Given the description of an element on the screen output the (x, y) to click on. 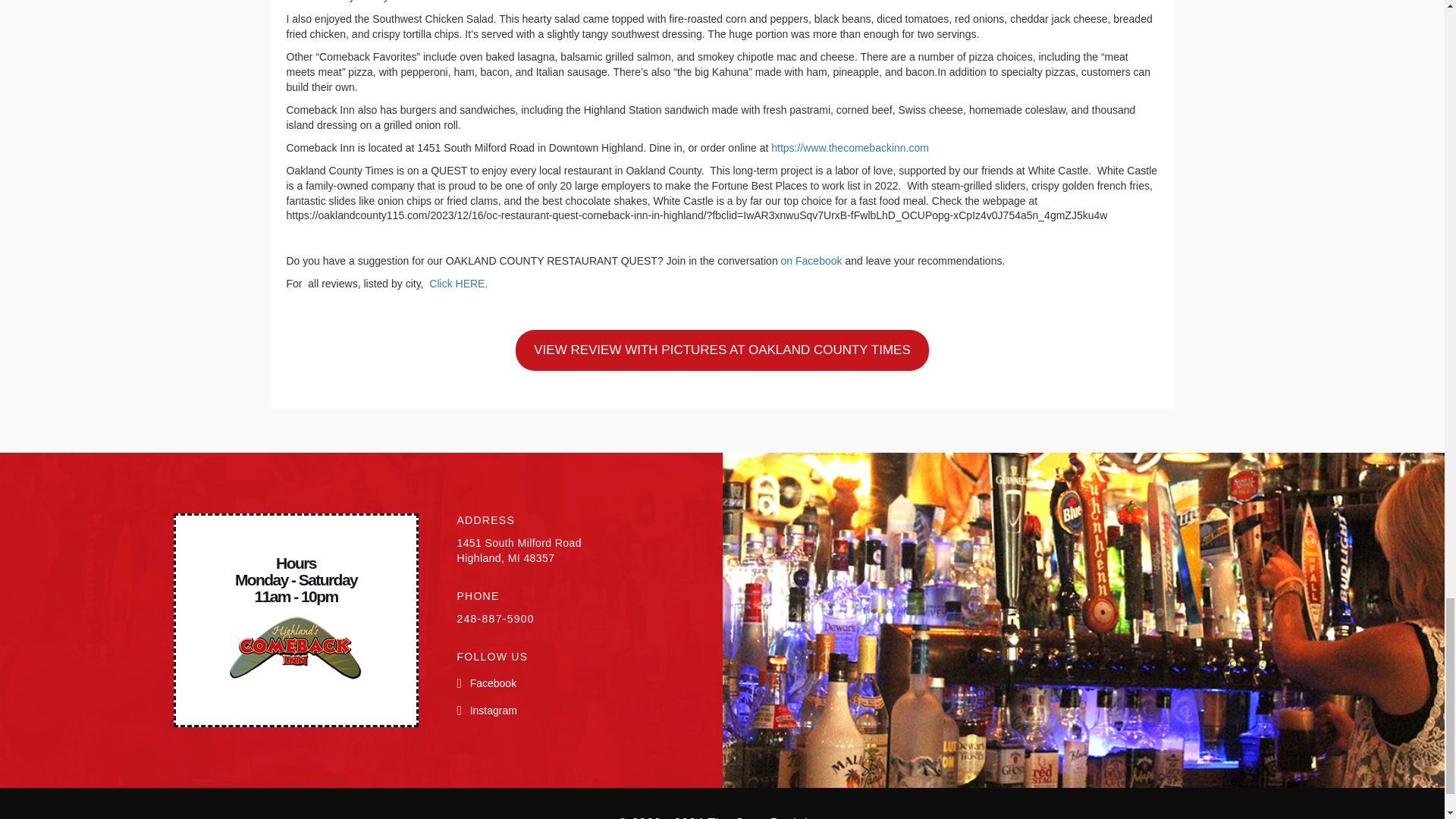
on Facebook (811, 260)
Logo 2 (296, 652)
Click HERE. (458, 283)
